Given the description of an element on the screen output the (x, y) to click on. 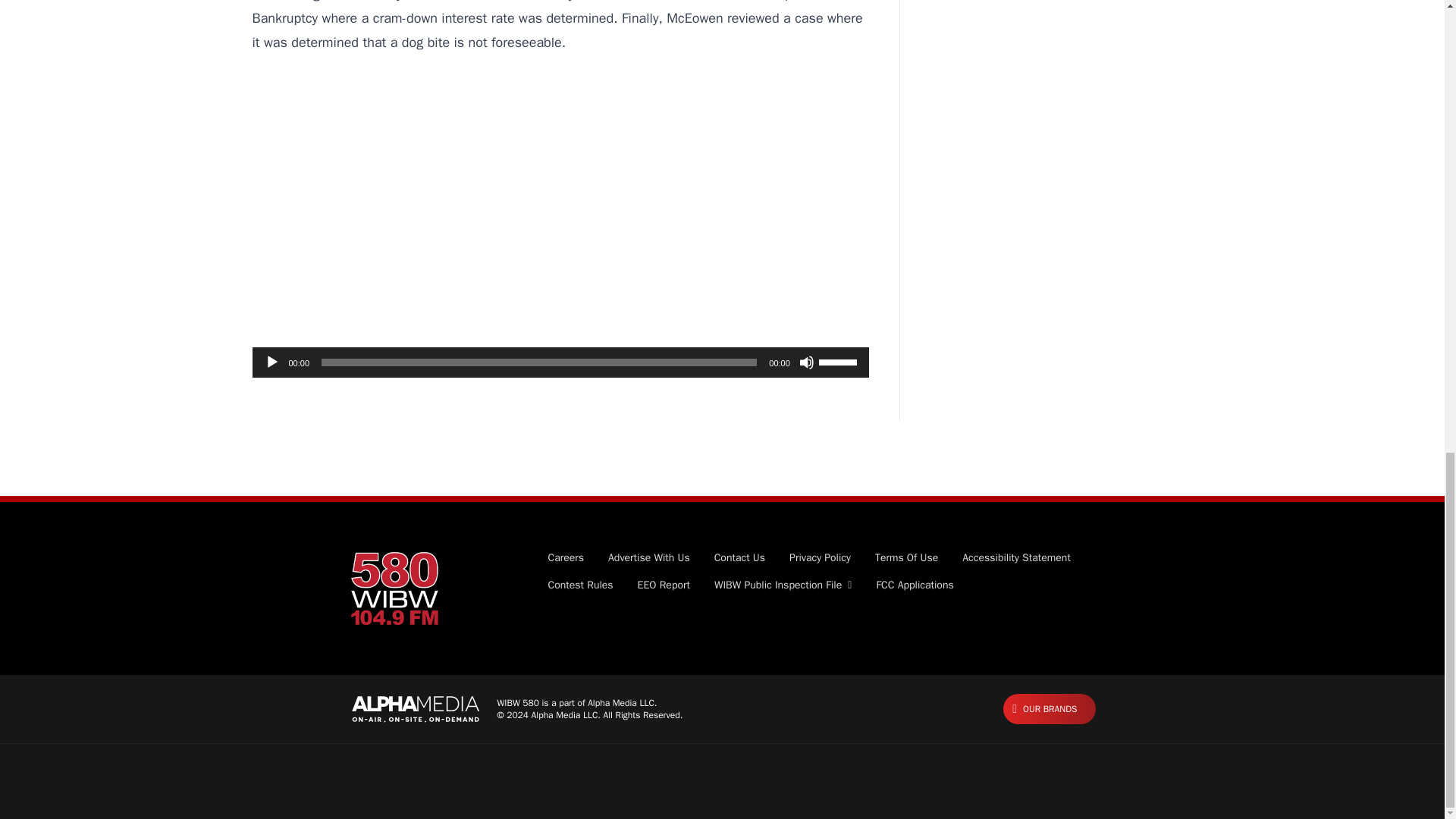
Play (271, 362)
Mute (806, 362)
3rd party ad content (560, 221)
